Given the description of an element on the screen output the (x, y) to click on. 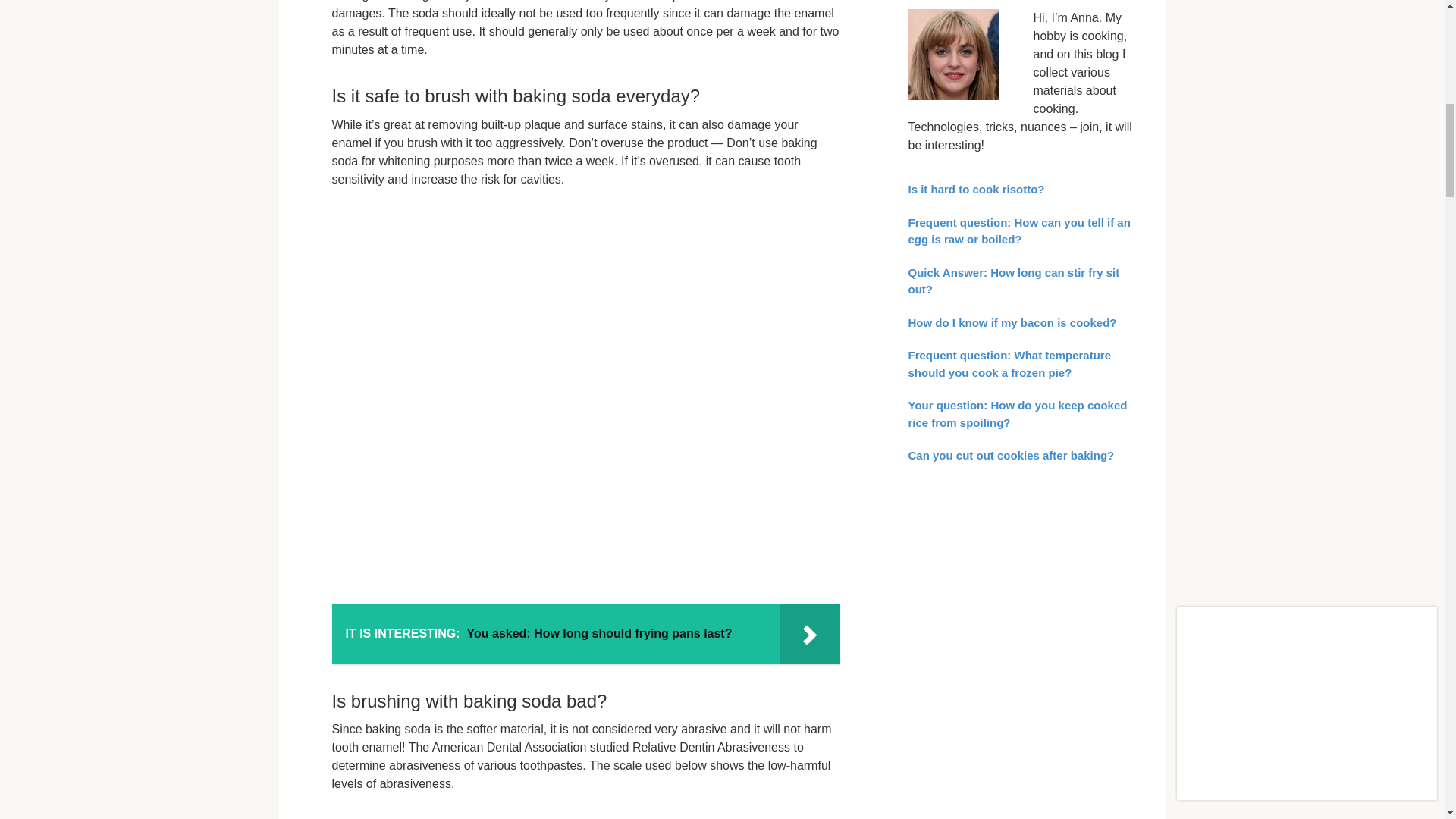
Advertisement (1021, 609)
Advertisement (1021, 775)
